Given the description of an element on the screen output the (x, y) to click on. 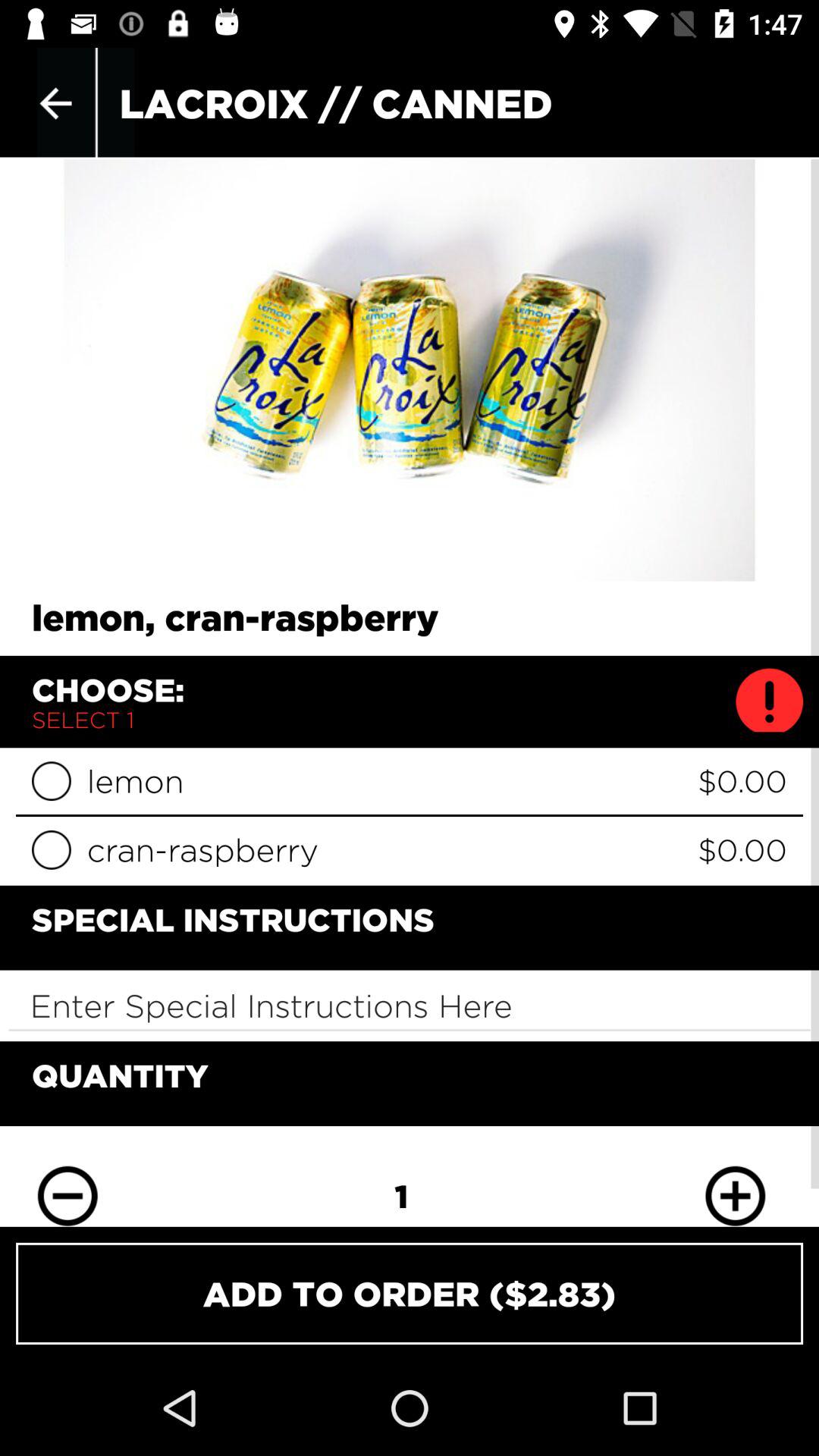
trigger selection (51, 849)
